Given the description of an element on the screen output the (x, y) to click on. 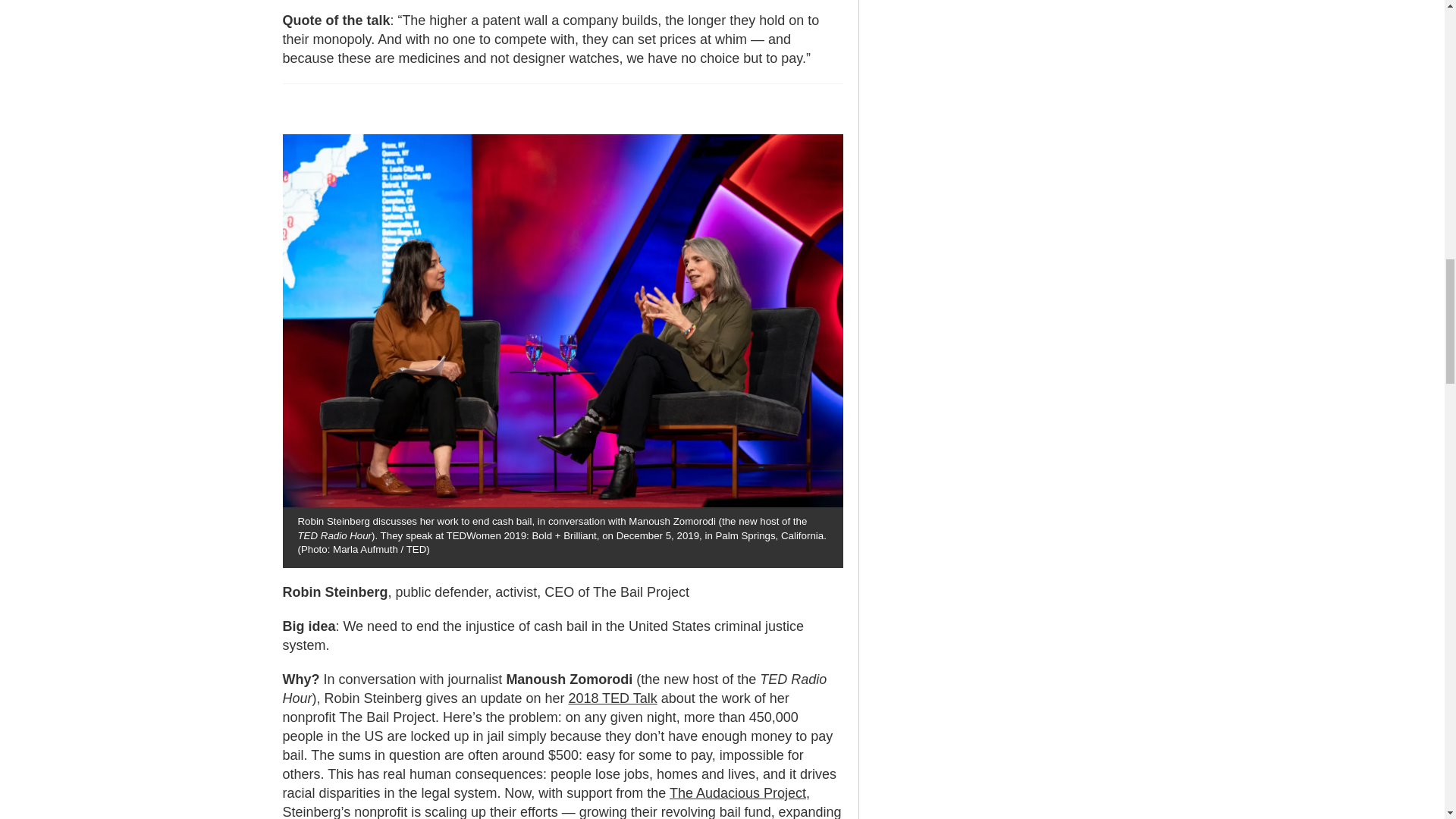
2018 TED Talk (611, 698)
The Audacious Project (737, 792)
